Given the description of an element on the screen output the (x, y) to click on. 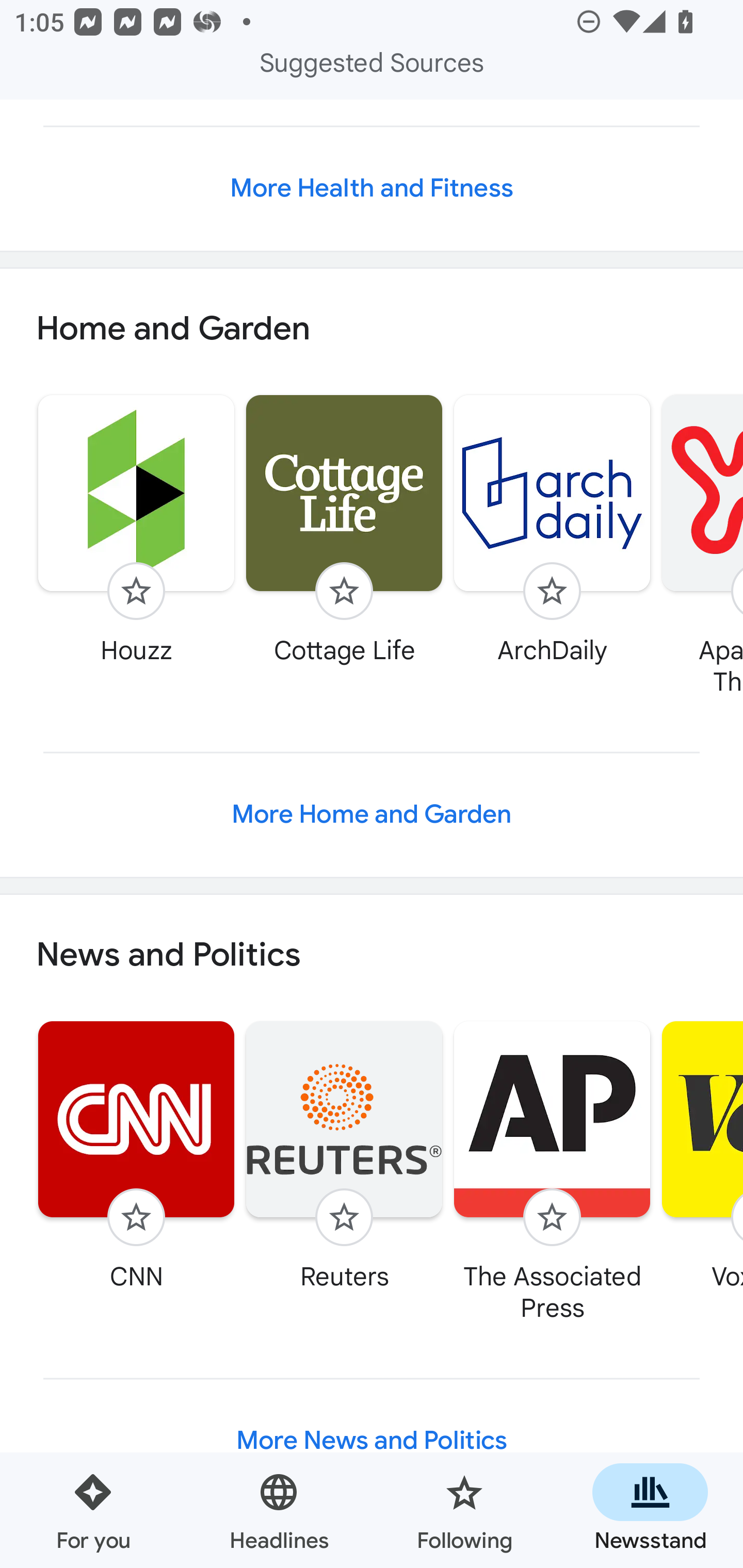
More Health and Fitness (371, 188)
Home and Garden (371, 328)
Follow Houzz (136, 528)
Follow Cottage Life (344, 528)
Follow ArchDaily (552, 528)
Follow (135, 590)
Follow (343, 590)
Follow (552, 590)
More Home and Garden (371, 814)
News and Politics (371, 955)
Follow CNN (136, 1155)
Follow Reuters (344, 1155)
Follow The Associated Press (552, 1171)
Follow (135, 1217)
Follow (343, 1217)
Follow (552, 1217)
More News and Politics (371, 1440)
For you (92, 1509)
Headlines (278, 1509)
Following (464, 1509)
Newsstand (650, 1509)
